Given the description of an element on the screen output the (x, y) to click on. 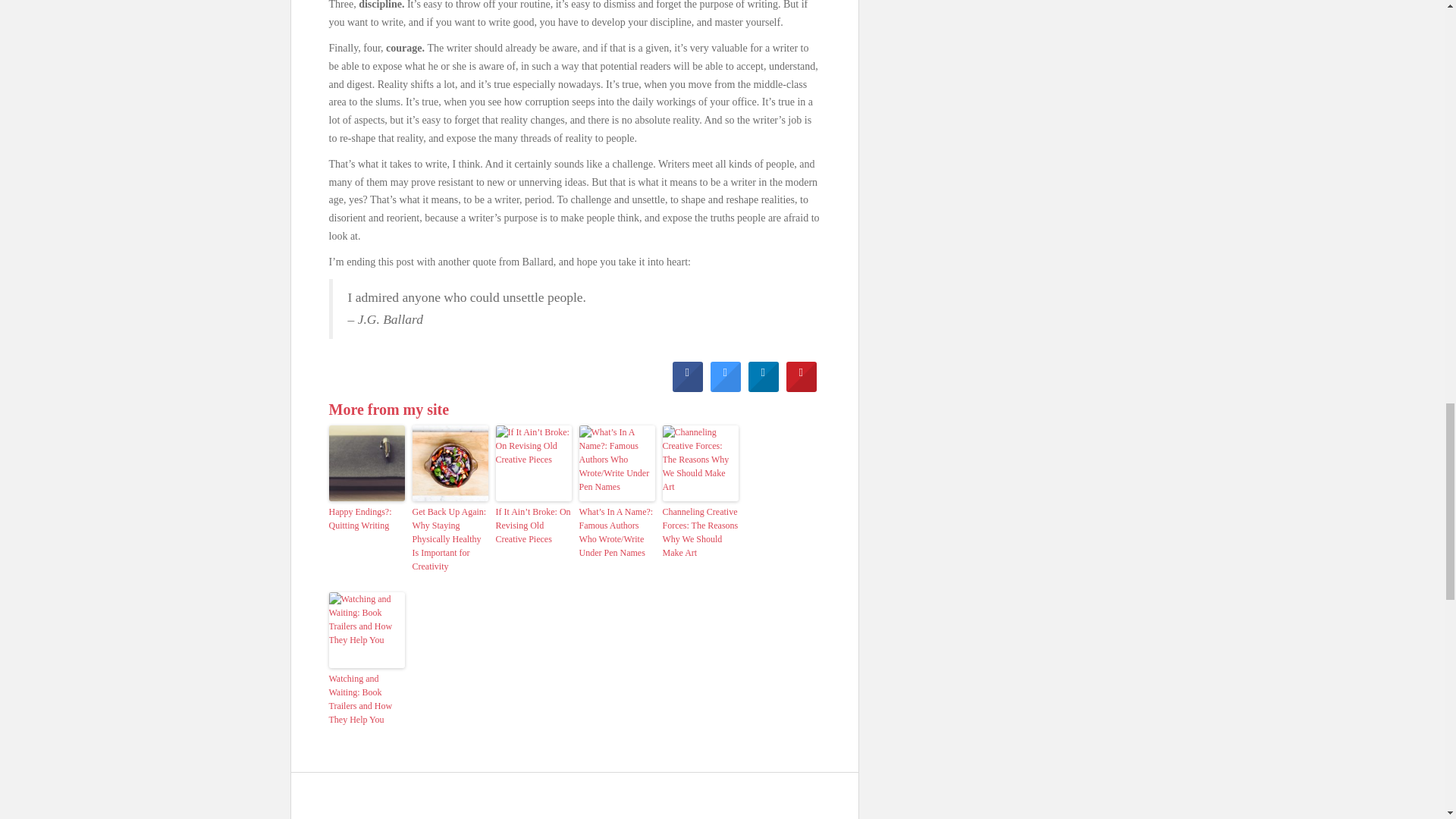
Share on Facebook (686, 387)
Happy Endings?: Quitting Writing (366, 518)
Share to LinkedIn (762, 387)
Share on Twitter (724, 387)
Share on Pinterest (800, 387)
Watching and Waiting: Book Trailers and How They Help You (366, 698)
